Given the description of an element on the screen output the (x, y) to click on. 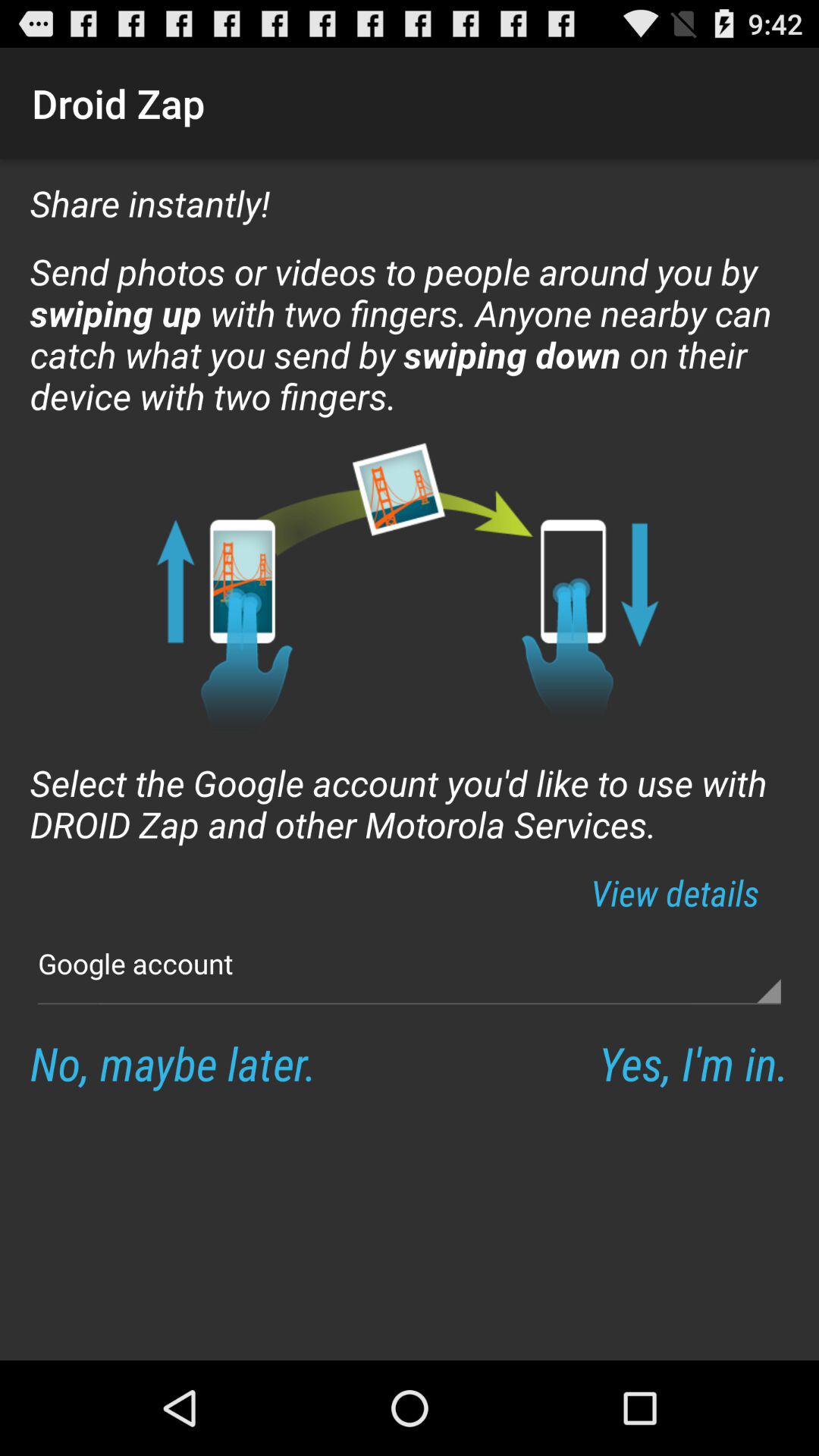
press item above google account icon (674, 892)
